Given the description of an element on the screen output the (x, y) to click on. 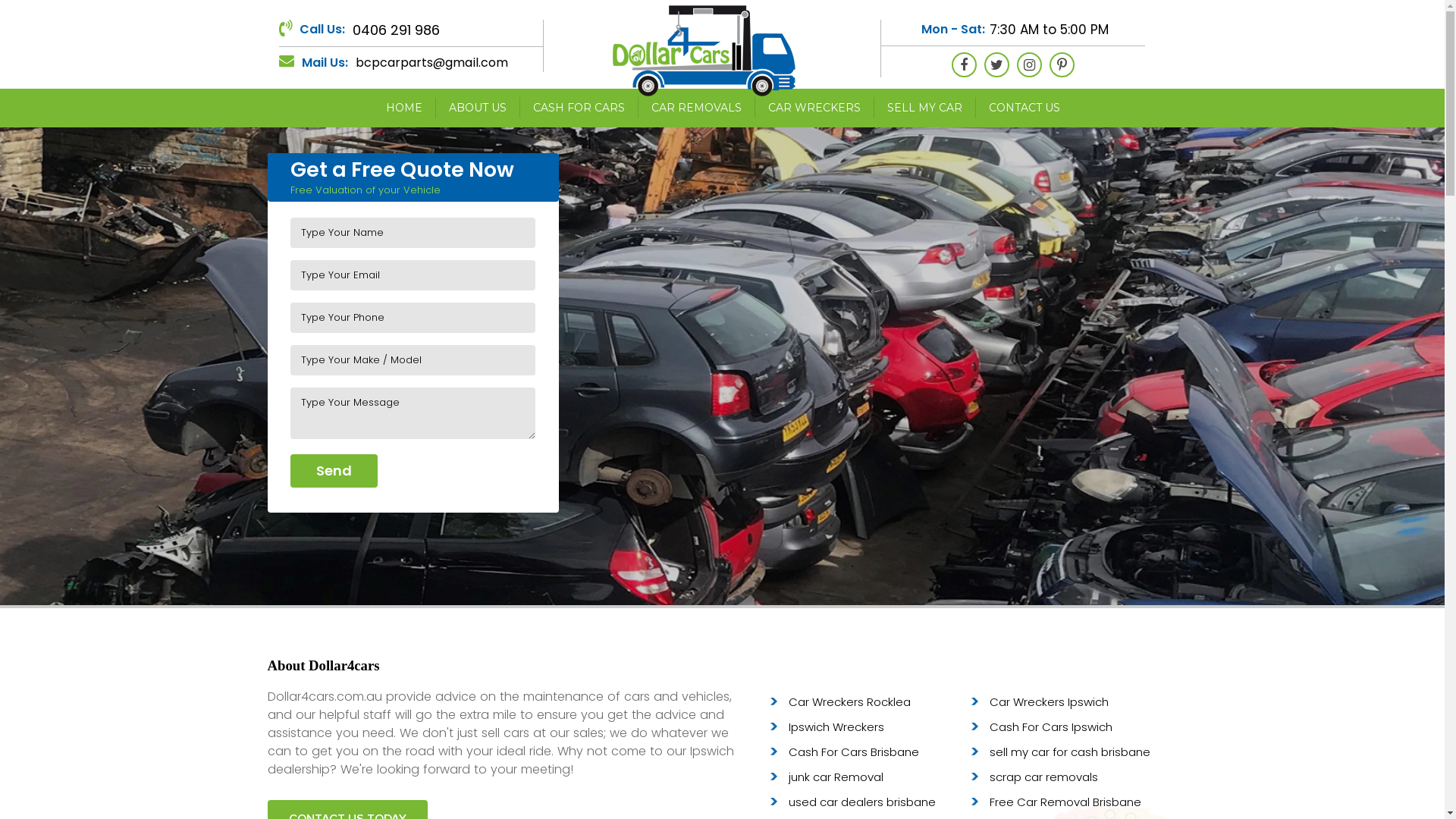
CAR REMOVALS Element type: text (695, 107)
CAR WRECKERS Element type: text (813, 107)
CASH FOR CARS Element type: text (578, 107)
HOME Element type: text (403, 107)
0406 291 986 Element type: text (395, 29)
ABOUT US Element type: text (477, 107)
SELL MY CAR Element type: text (924, 107)
bcpcarparts@gmail.com Element type: text (430, 62)
Send Element type: text (333, 470)
CONTACT US Element type: text (1023, 107)
